Given the description of an element on the screen output the (x, y) to click on. 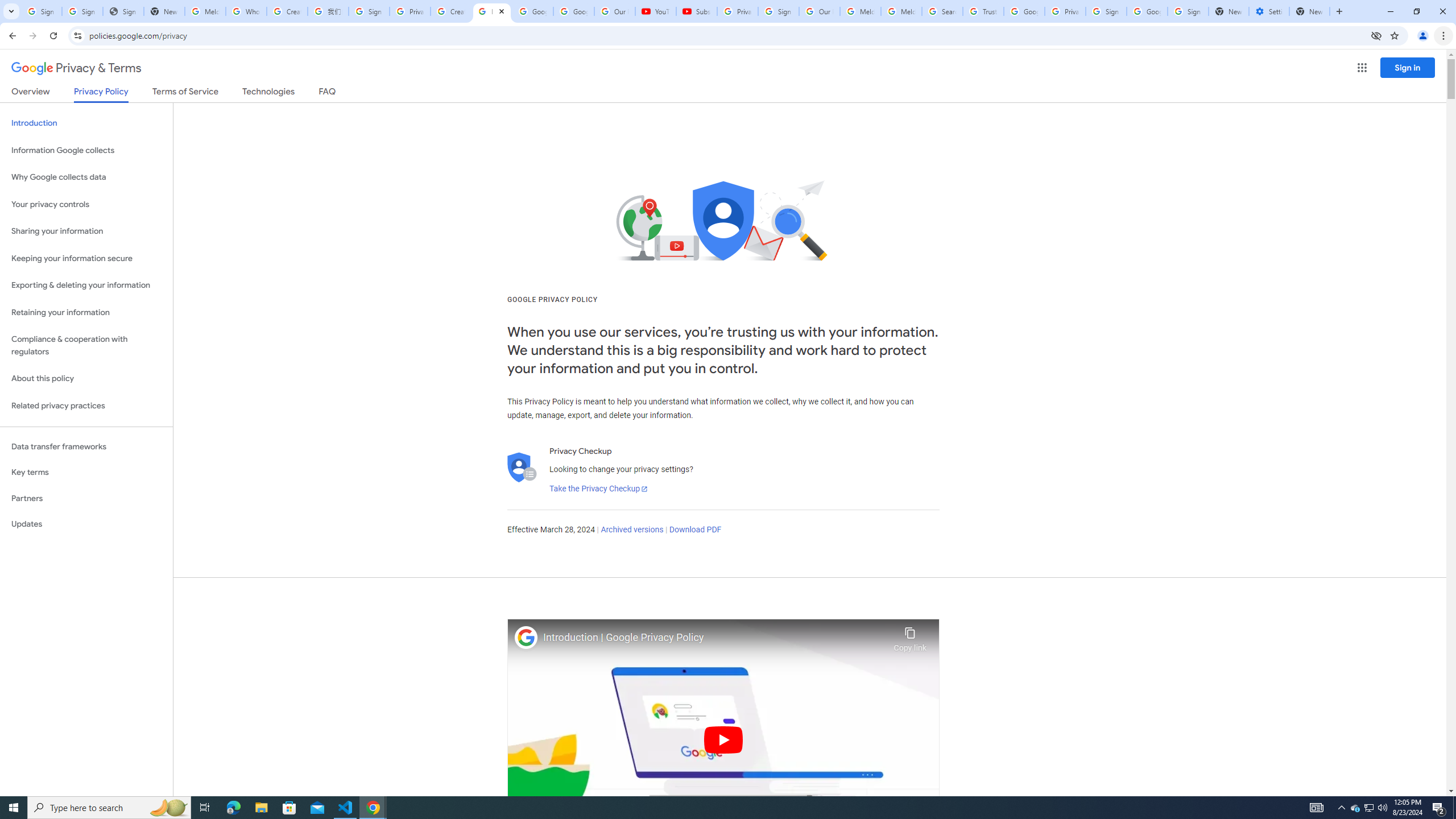
New Tab (1309, 11)
Search our Doodle Library Collection - Google Doodles (942, 11)
